Given the description of an element on the screen output the (x, y) to click on. 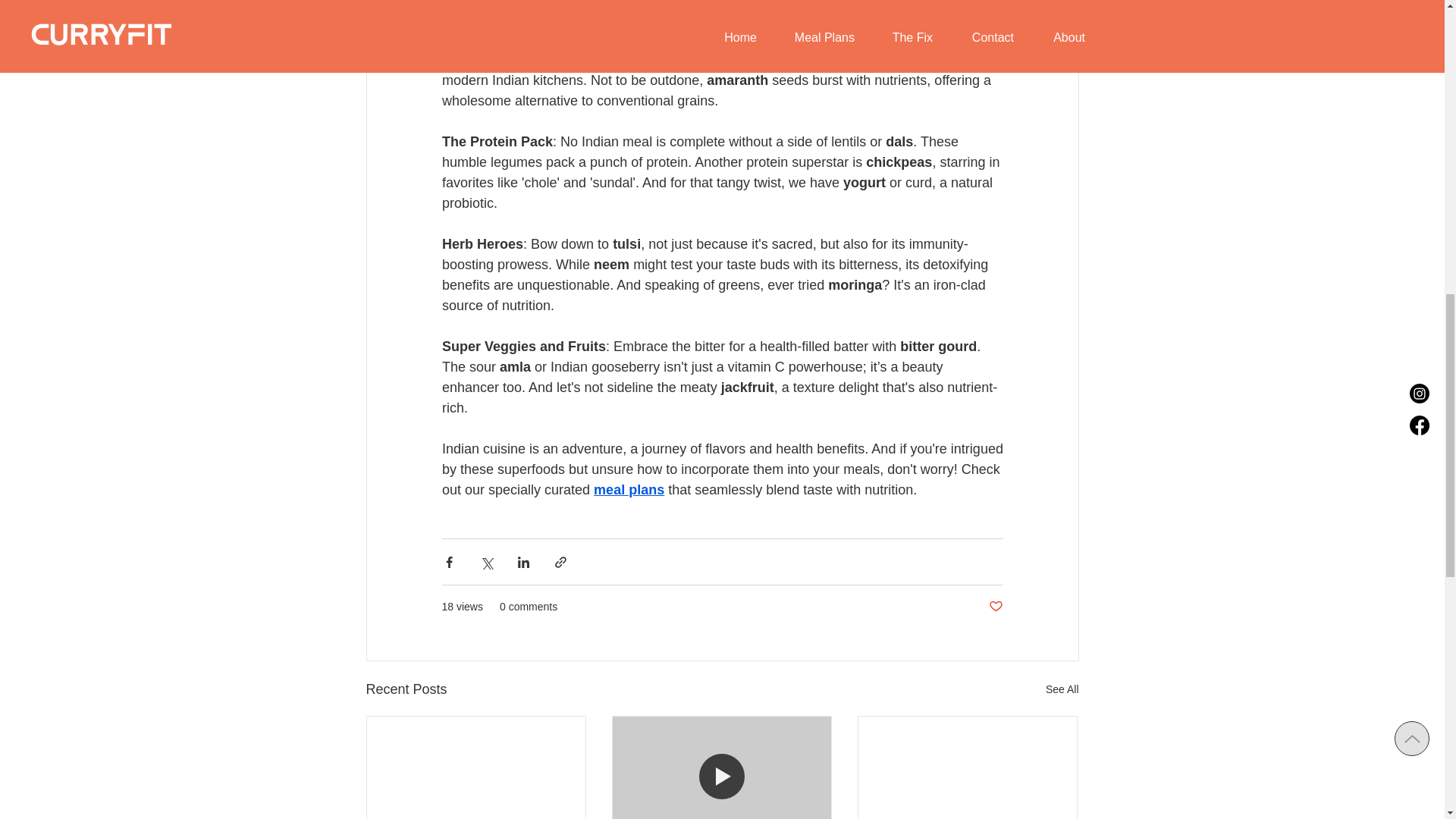
meal plans (628, 489)
Post not marked as liked (995, 606)
See All (1061, 689)
